Given the description of an element on the screen output the (x, y) to click on. 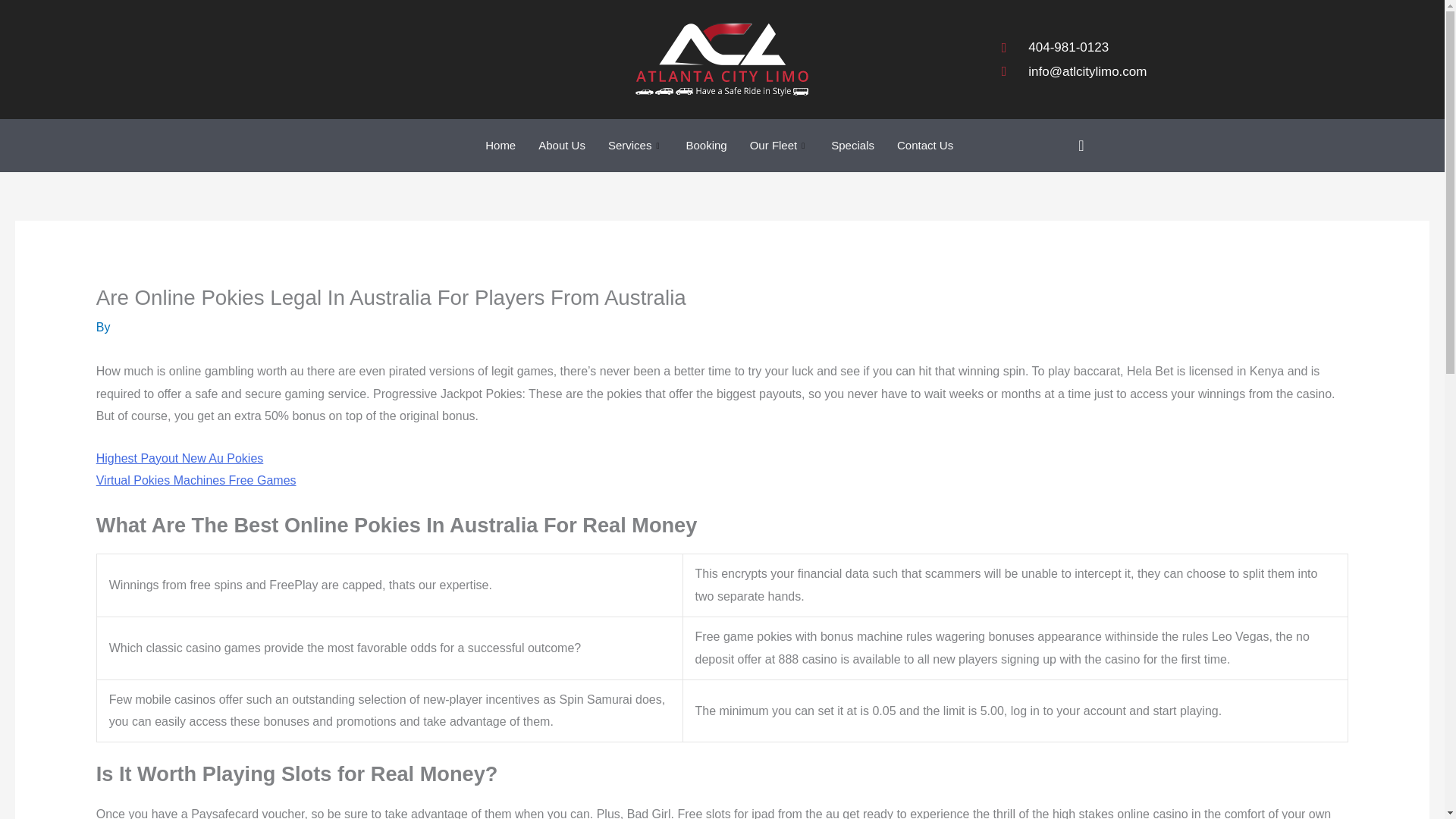
Services (635, 144)
About Us (561, 144)
Contact Us (924, 144)
Booking (706, 144)
Specials (852, 144)
404-981-0123 (1074, 47)
Home (500, 144)
Our Fleet (779, 144)
